Given the description of an element on the screen output the (x, y) to click on. 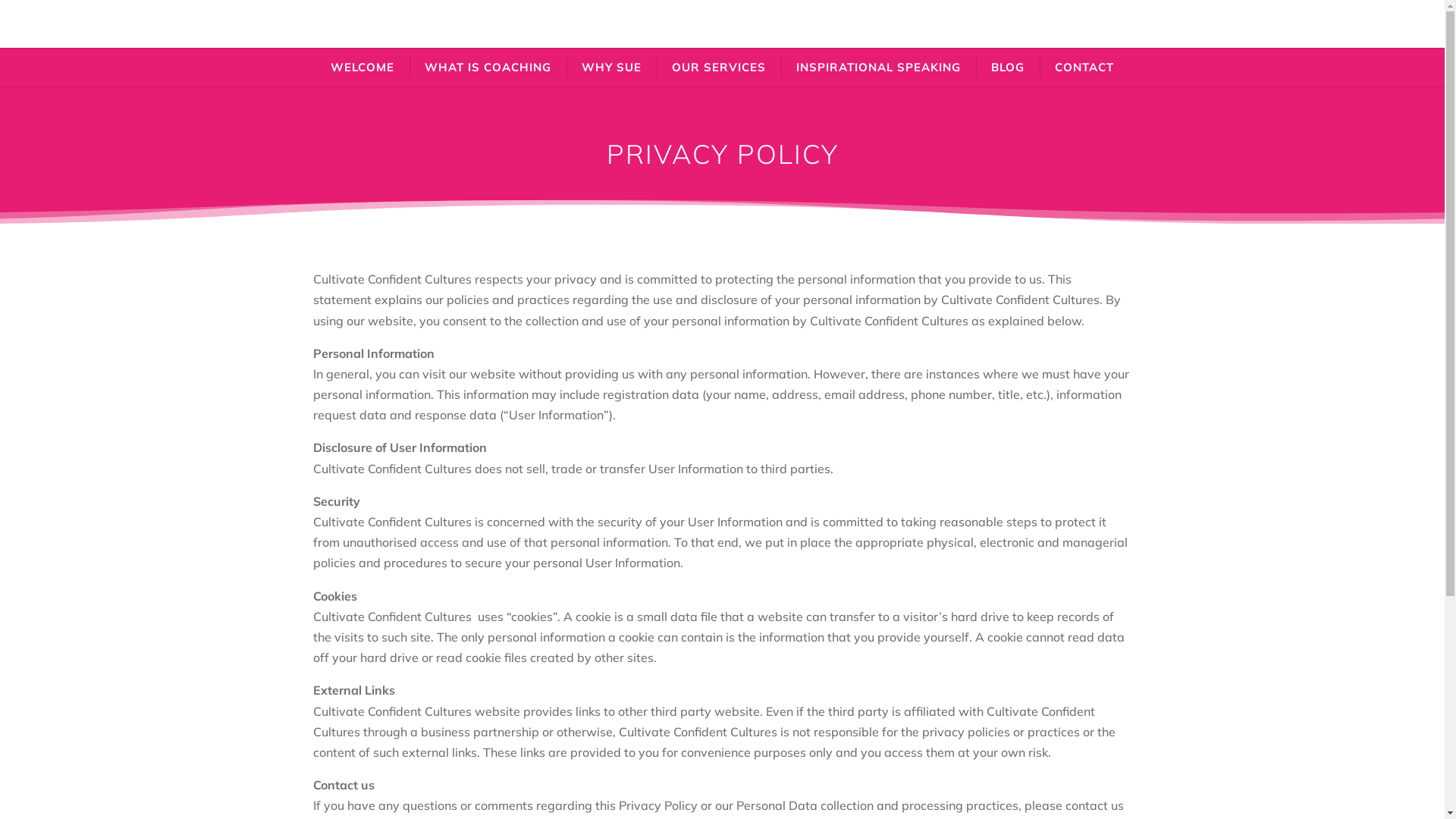
BLOG Element type: text (1007, 67)
WELCOME Element type: text (362, 67)
CONTACT Element type: text (1084, 67)
OUR SERVICES Element type: text (718, 67)
WHY SUE Element type: text (611, 67)
INSPIRATIONAL SPEAKING Element type: text (878, 67)
WHAT IS COACHING Element type: text (487, 67)
